Given the description of an element on the screen output the (x, y) to click on. 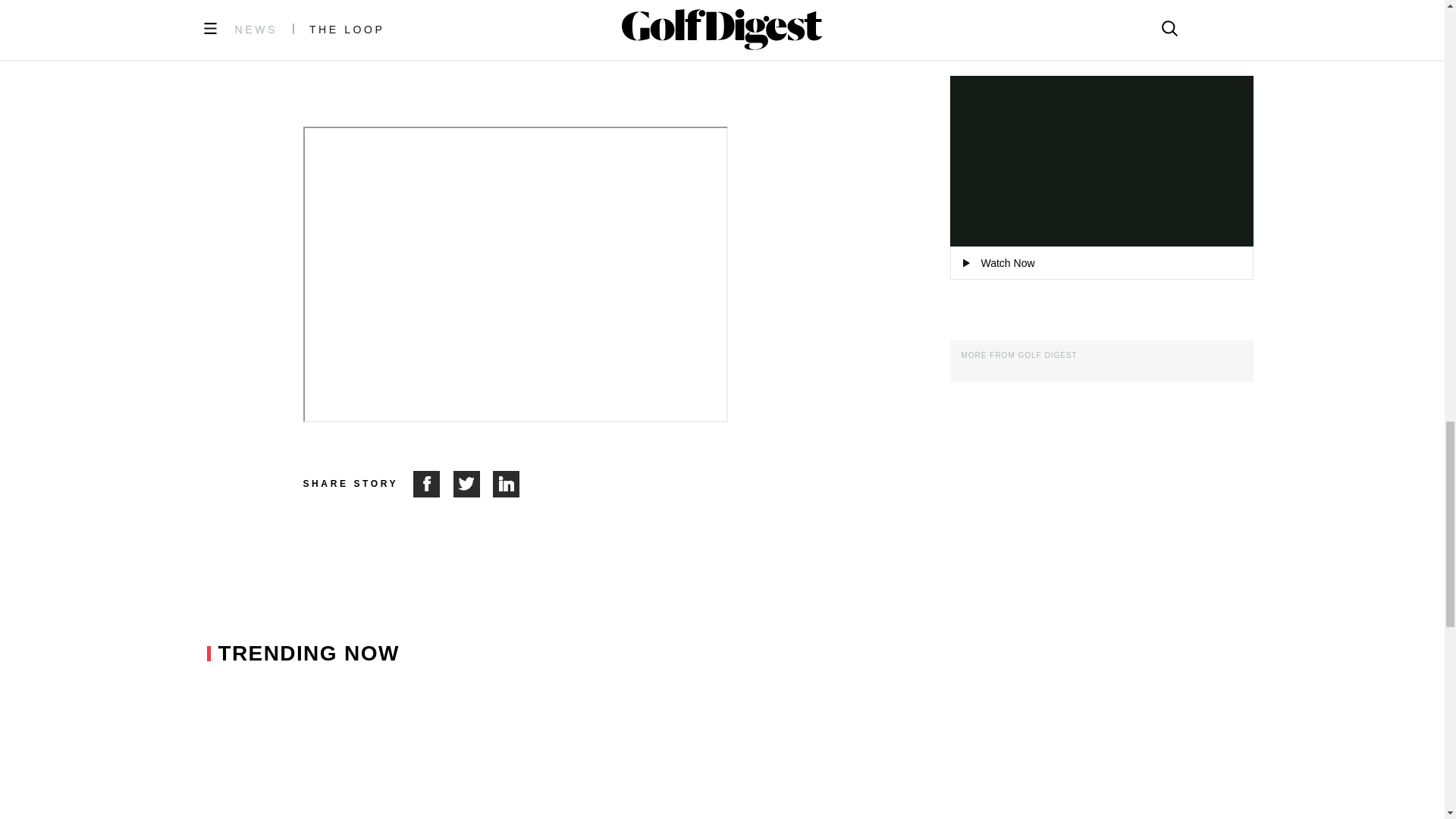
Share on LinkedIn (506, 483)
Share on Facebook (432, 483)
Share on Twitter (472, 483)
